Given the description of an element on the screen output the (x, y) to click on. 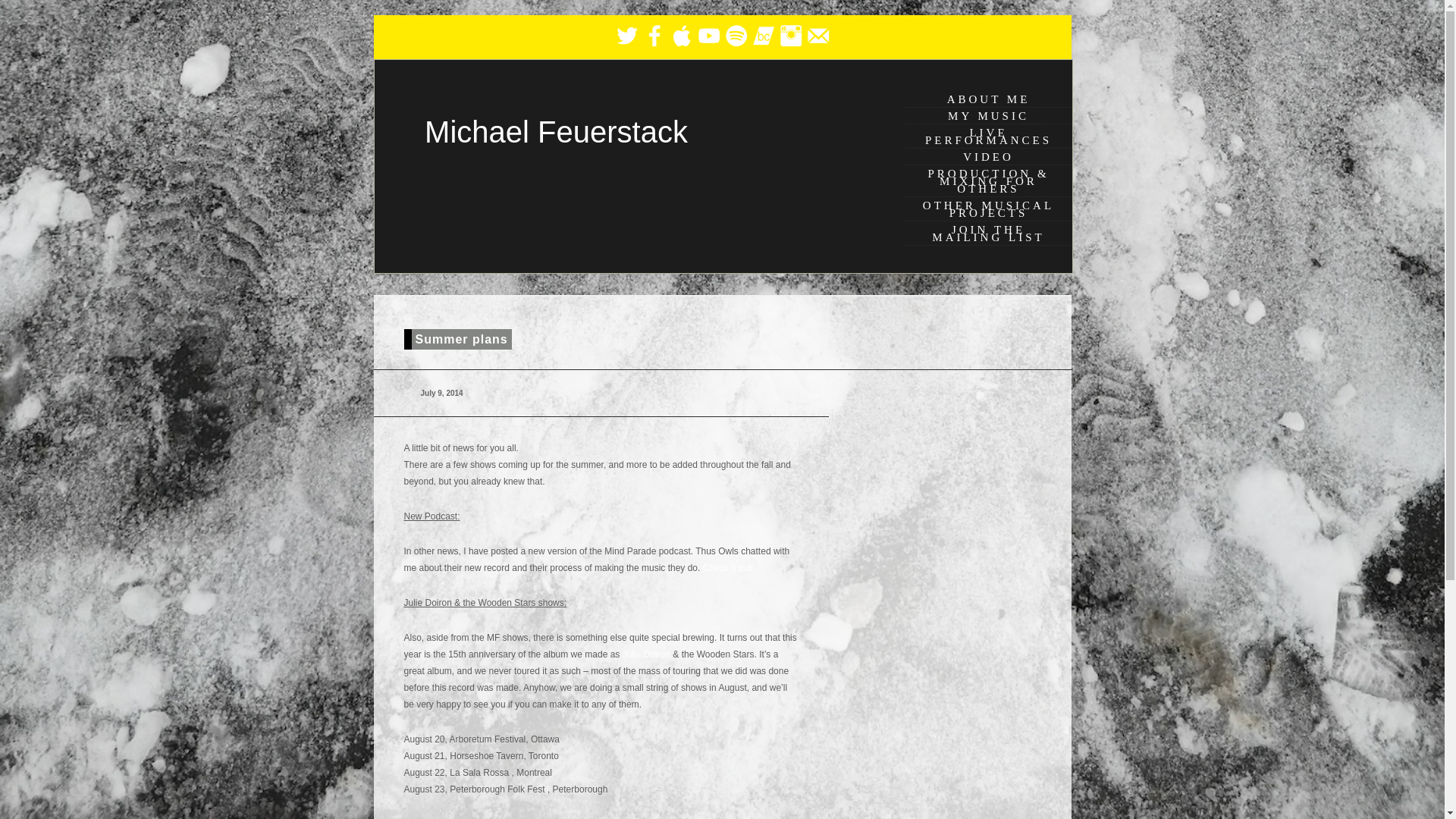
Summer plans (457, 339)
LIVE PERFORMANCES (988, 136)
Michael Feuerstack (556, 131)
ABOUT ME (988, 98)
Michael Feuerstack (556, 131)
Spotify (735, 45)
Instagram (790, 35)
Bandcamp (763, 35)
Spotify (736, 35)
Instagram (789, 45)
OTHER MUSICAL PROJECTS (988, 209)
facebook (653, 45)
Contact (817, 35)
VIDEO (988, 156)
Wednesday, July 9th, 2014, 4:35 pm (438, 393)
